Given the description of an element on the screen output the (x, y) to click on. 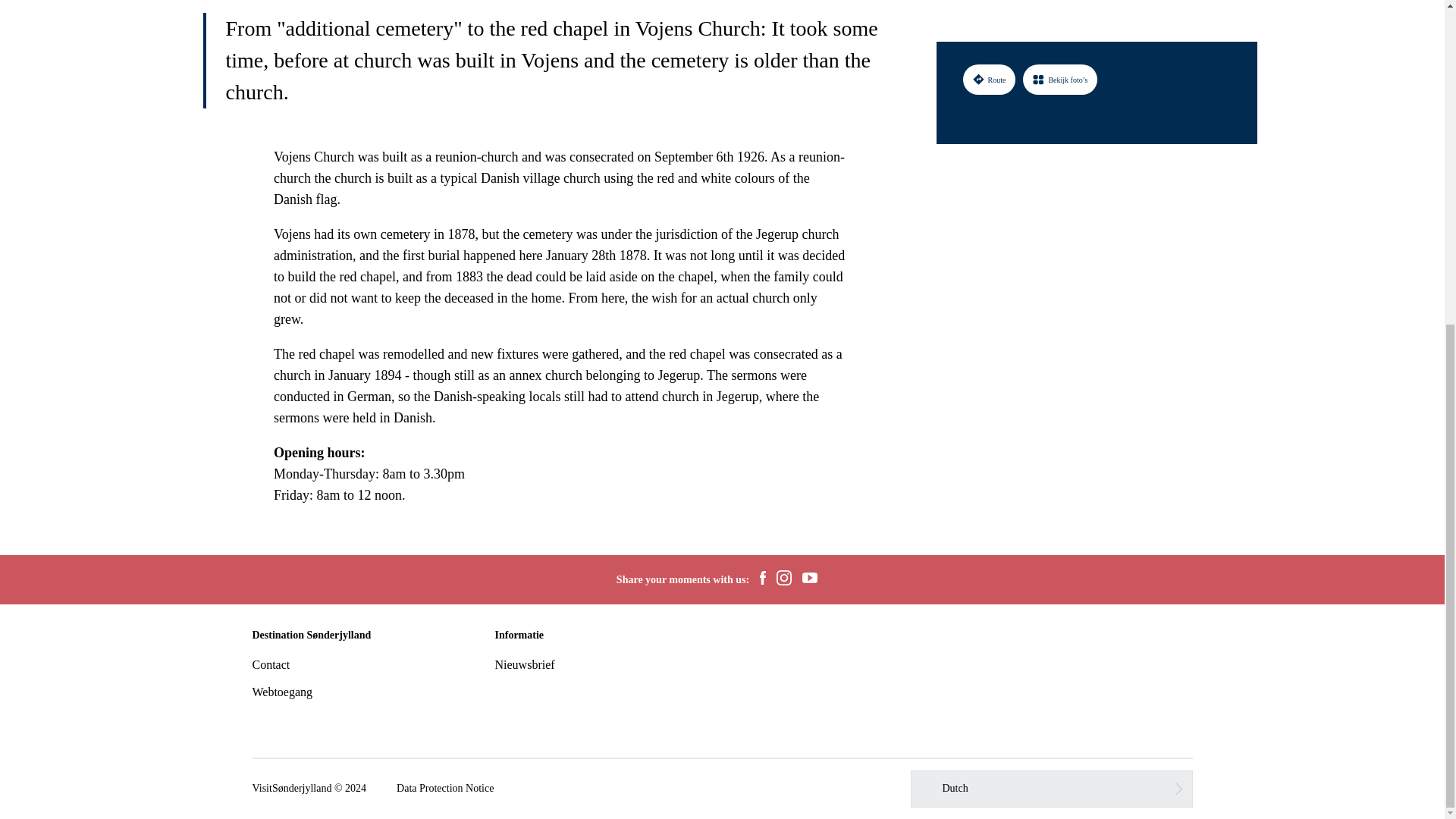
Contact (270, 664)
instagram (783, 579)
Nieuwsbrief (524, 664)
facebook (762, 579)
youtube (809, 579)
Contact (270, 664)
Data Protection Notice (444, 788)
Webtoegang (282, 691)
Nieuwsbrief (524, 664)
Data Protection Notice (444, 788)
Webtoegang (282, 691)
